Given the description of an element on the screen output the (x, y) to click on. 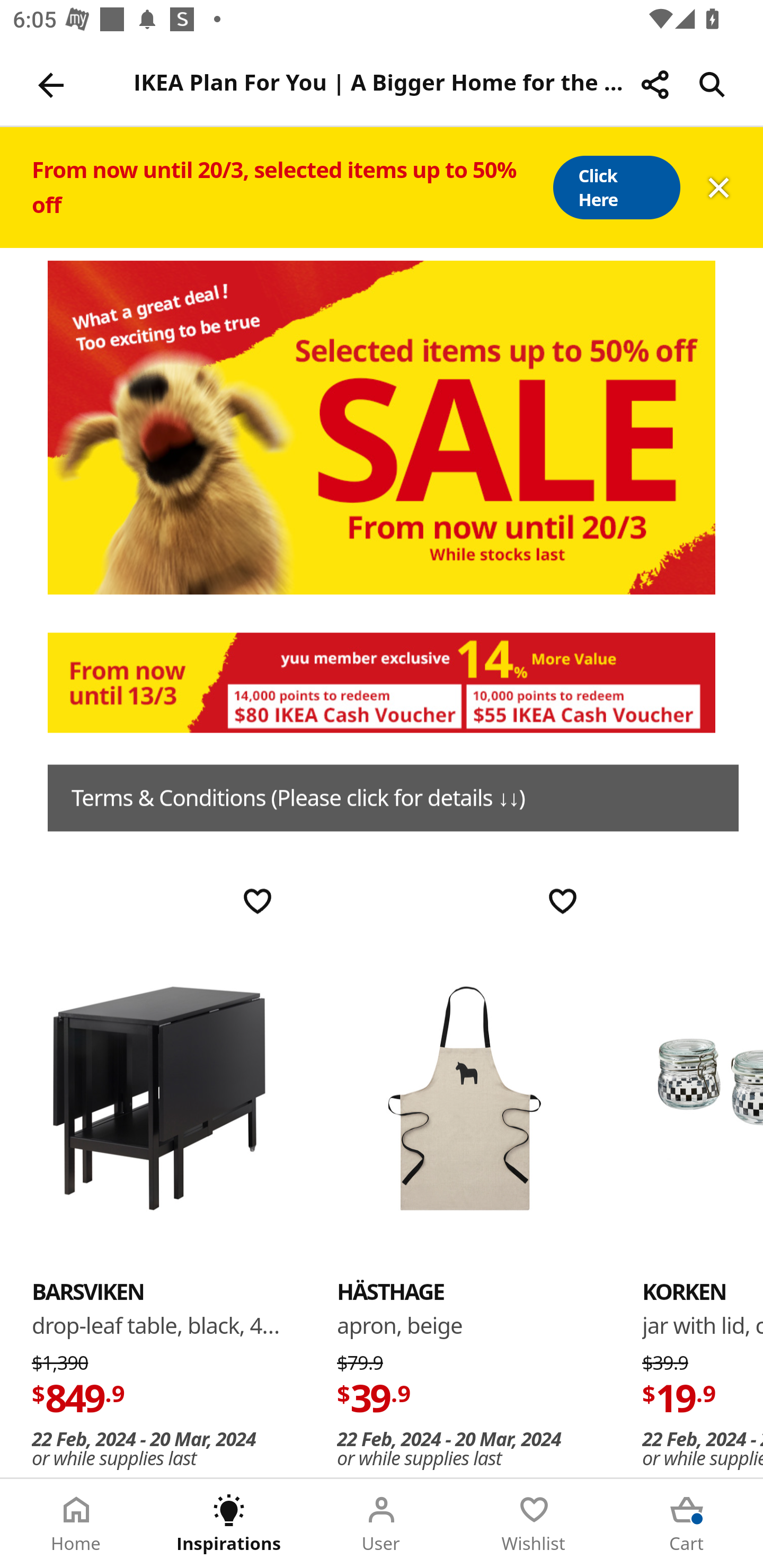
Click Here (615, 187)
Terms & Conditions (Please click for details ↓↓) (393, 798)
BARSVIKEN (159, 1096)
HÄSTHAGE (464, 1096)
KORKEN (702, 1096)
BARSVIKEN (88, 1290)
HÄSTHAGE (390, 1290)
KORKEN (684, 1290)
Home
Tab 1 of 5 (76, 1522)
Inspirations
Tab 2 of 5 (228, 1522)
User
Tab 3 of 5 (381, 1522)
Wishlist
Tab 4 of 5 (533, 1522)
Cart
Tab 5 of 5 (686, 1522)
